Given the description of an element on the screen output the (x, y) to click on. 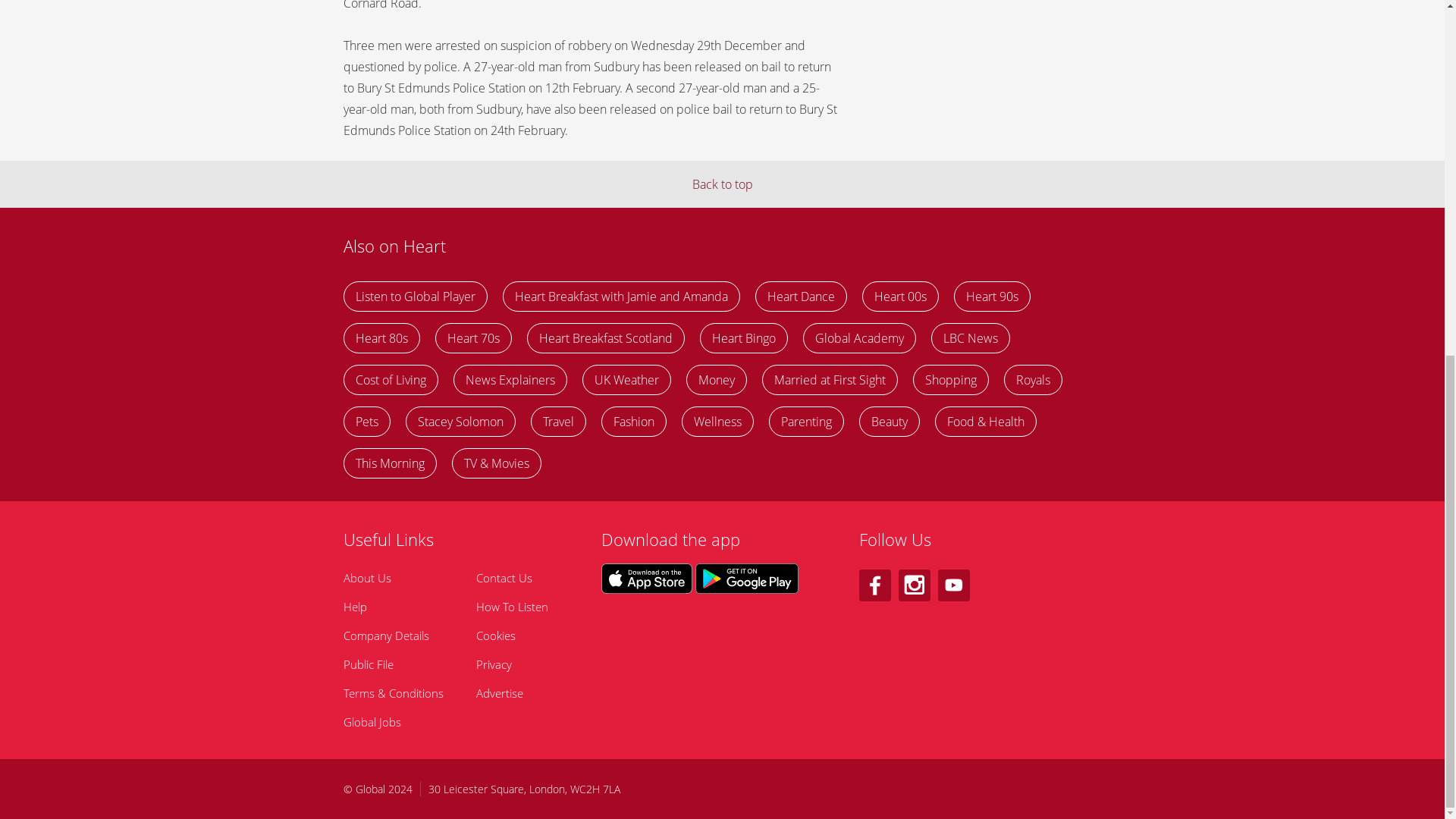
Back to top (721, 184)
Follow Heart on Instagram (914, 585)
Follow Heart on Facebook (874, 585)
Follow Heart on Youtube (953, 585)
